Given the description of an element on the screen output the (x, y) to click on. 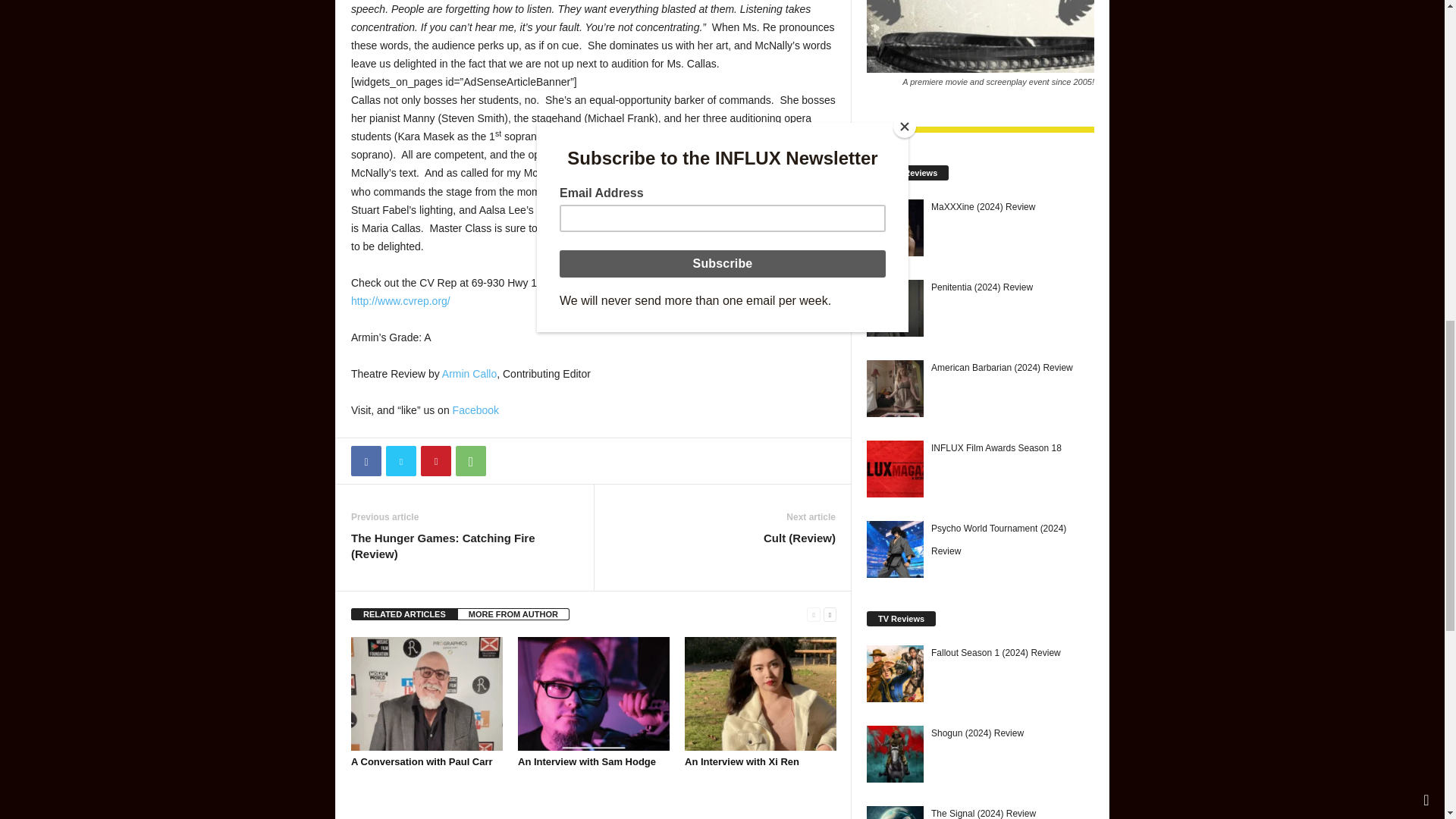
RELATED ARTICLES (404, 613)
Twitter (400, 460)
Influx Magazine on Facebook (475, 410)
MORE FROM AUTHOR (513, 613)
Pinterest (435, 460)
WhatsApp (470, 460)
Armin Callo (469, 373)
Facebook (475, 410)
Facebook (365, 460)
About The Influx Writers (469, 373)
